Given the description of an element on the screen output the (x, y) to click on. 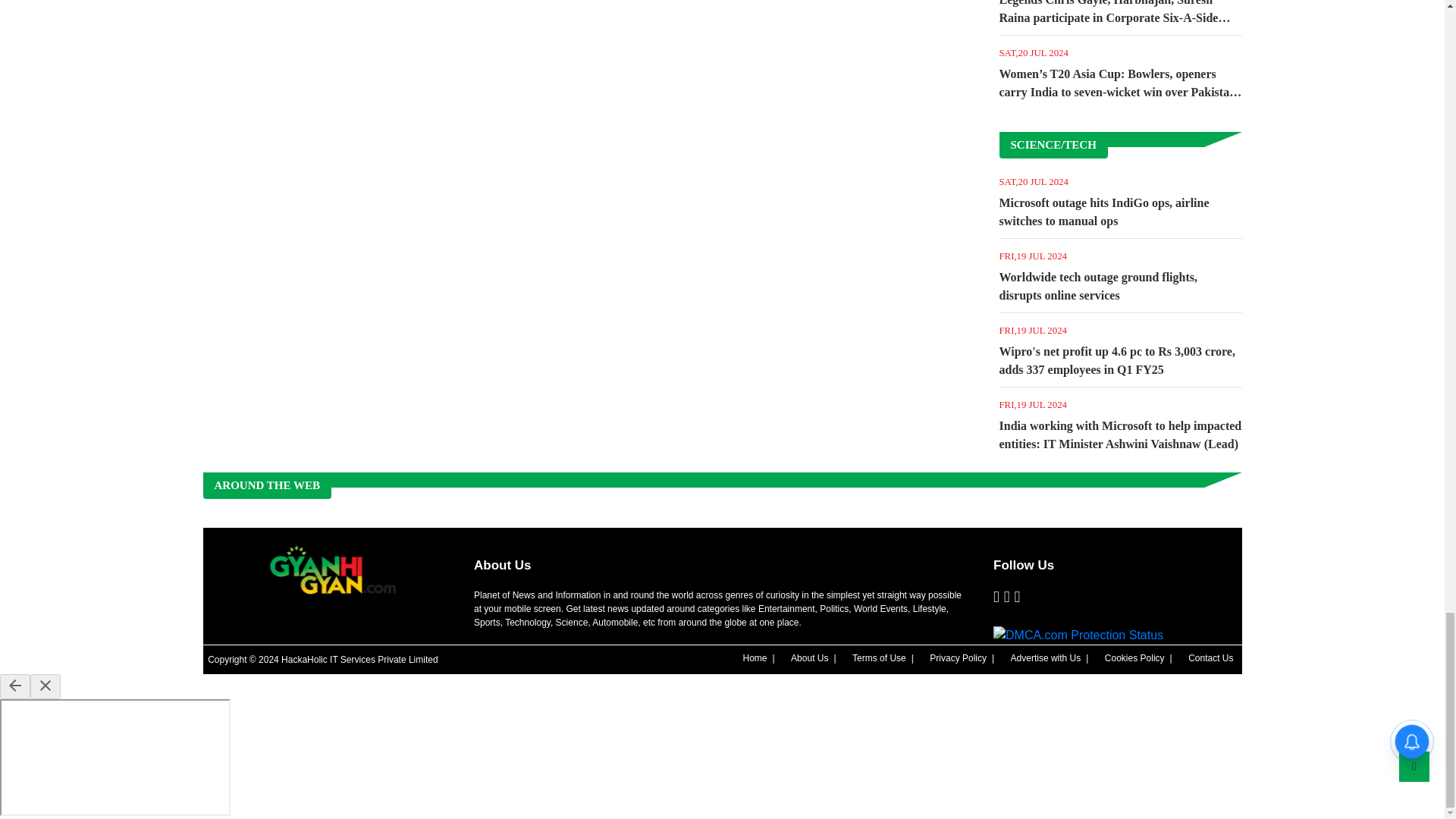
DMCA.com Protection Status (1077, 635)
